Given the description of an element on the screen output the (x, y) to click on. 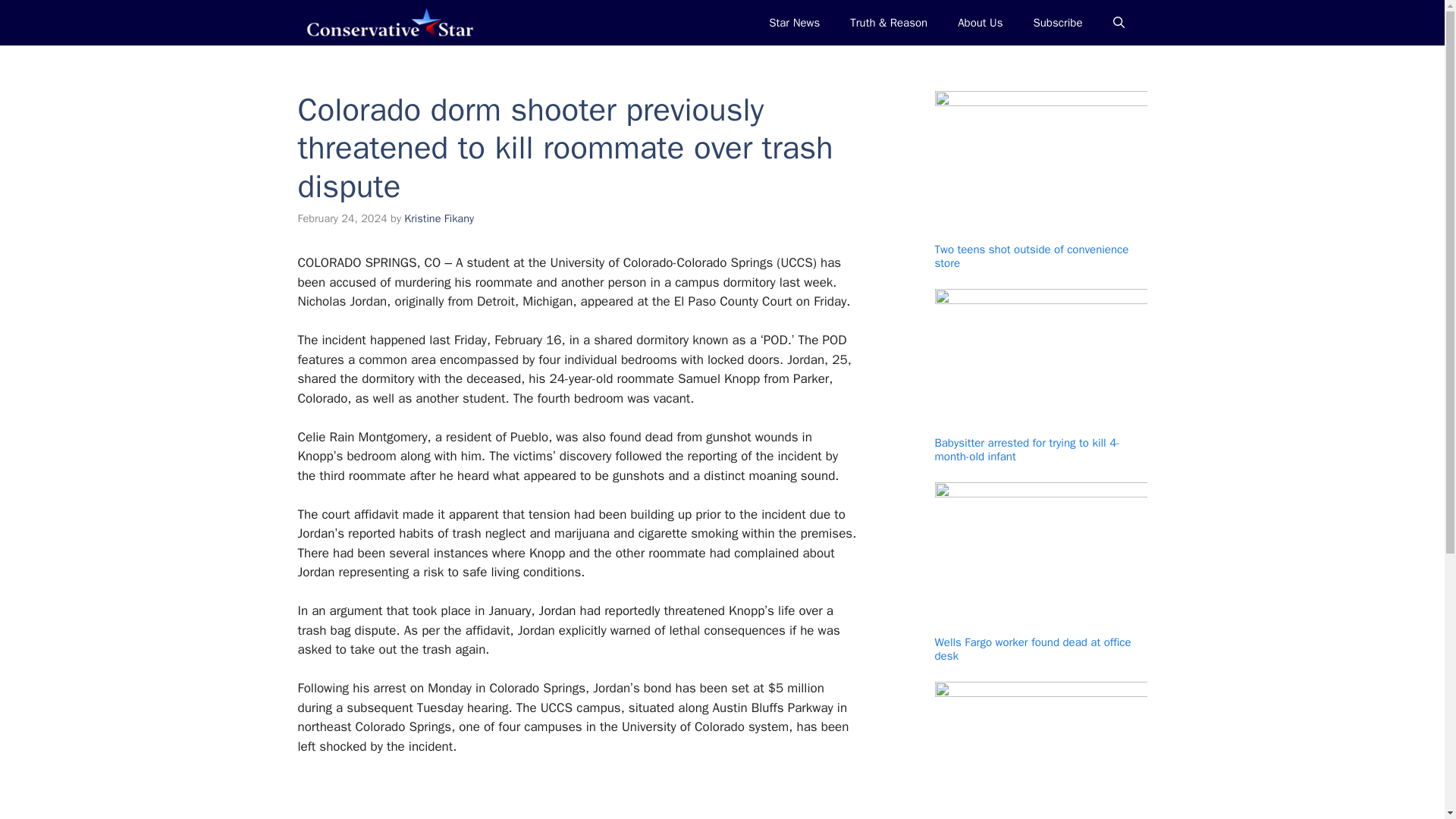
About Us (979, 22)
Babysitter arrested for trying to kill 4-month-old infant (1026, 449)
Conservative Star (388, 22)
Wells Fargo worker found dead at office desk (1032, 648)
Star News (794, 22)
Two teens shot outside of convenience store (1031, 256)
View all posts by Kristine Fikany (439, 218)
Kristine Fikany (439, 218)
Subscribe (1057, 22)
